Given the description of an element on the screen output the (x, y) to click on. 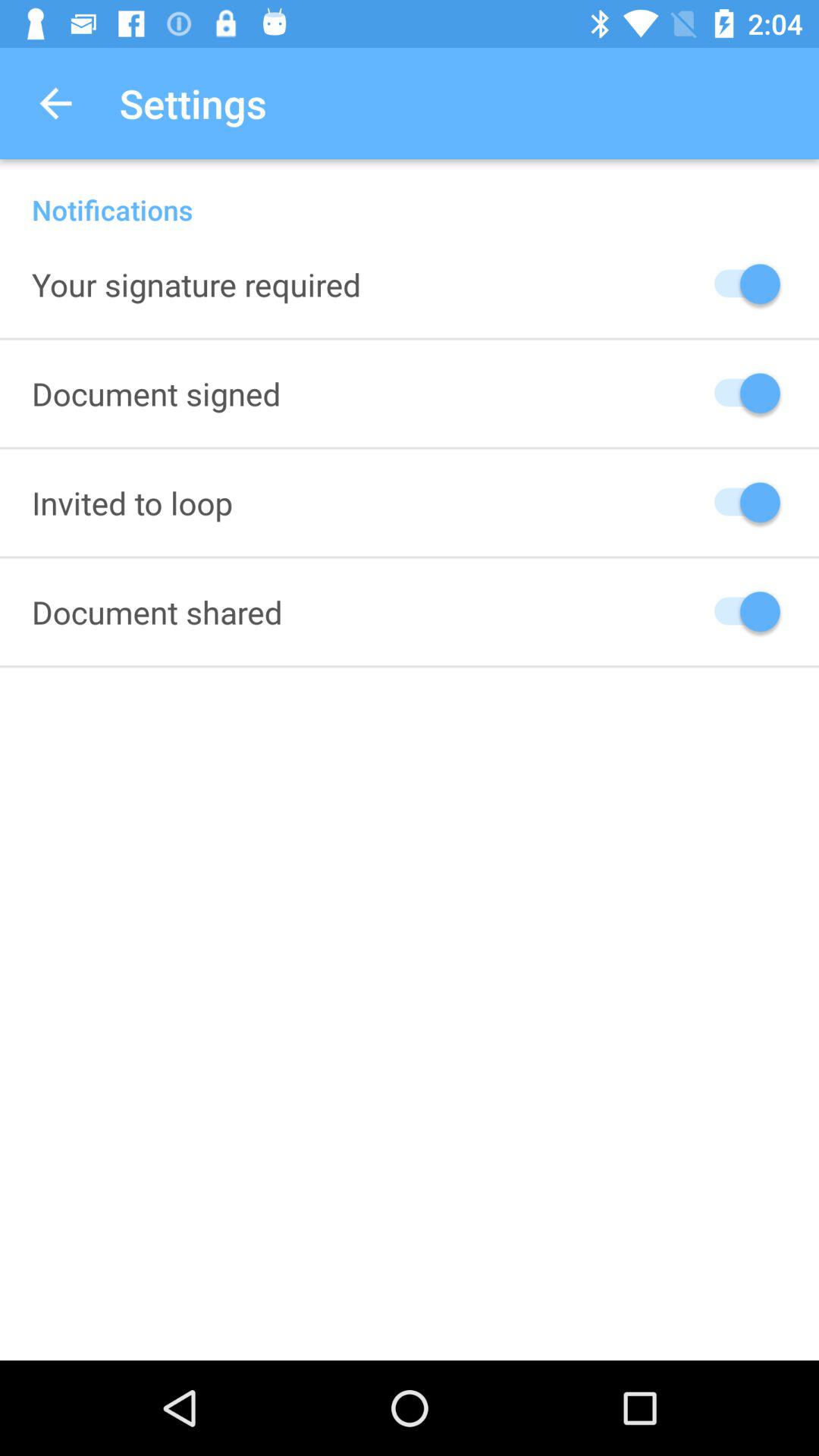
scroll to document shared item (156, 611)
